Given the description of an element on the screen output the (x, y) to click on. 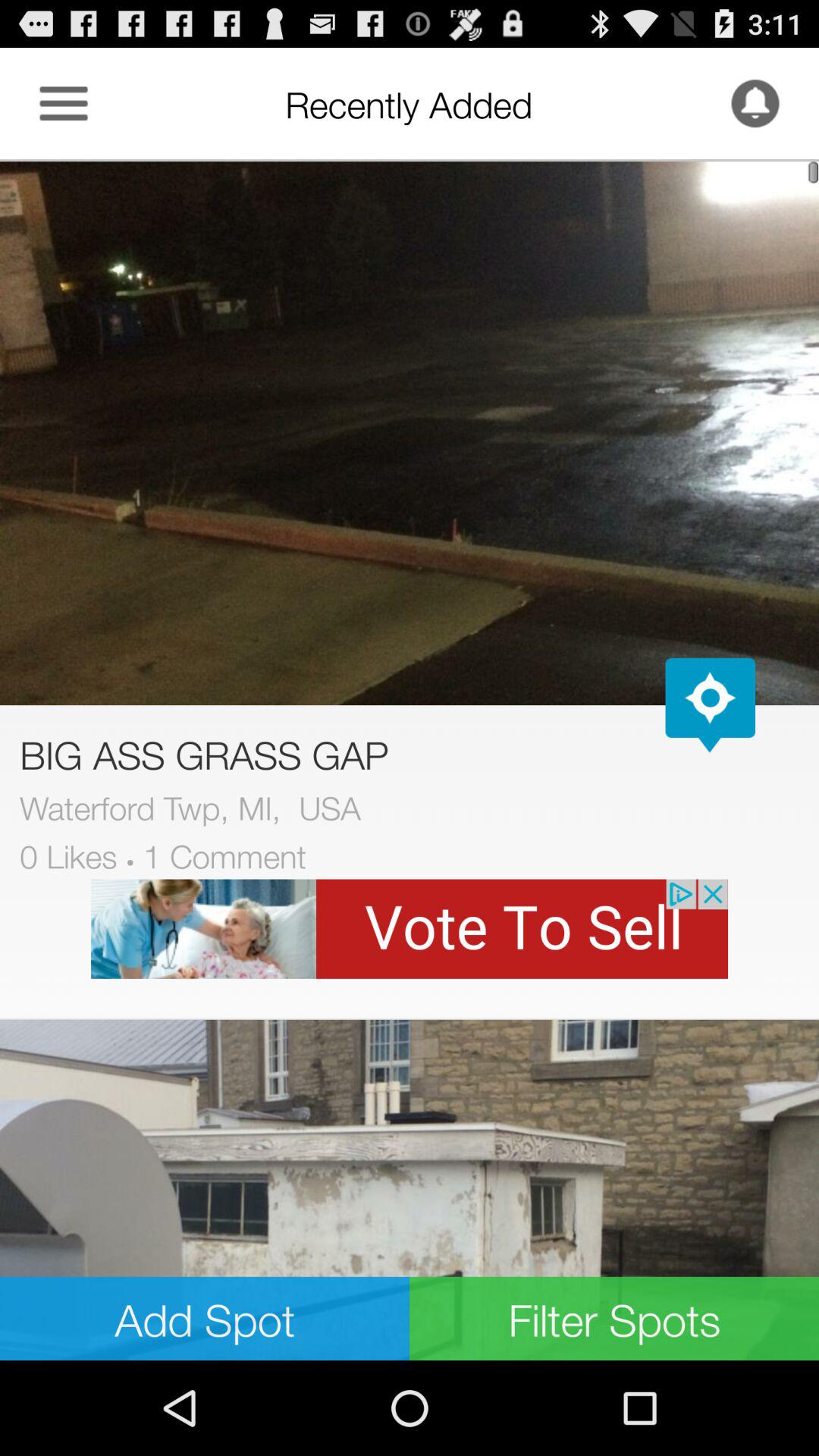
exit advertisement (409, 928)
